Given the description of an element on the screen output the (x, y) to click on. 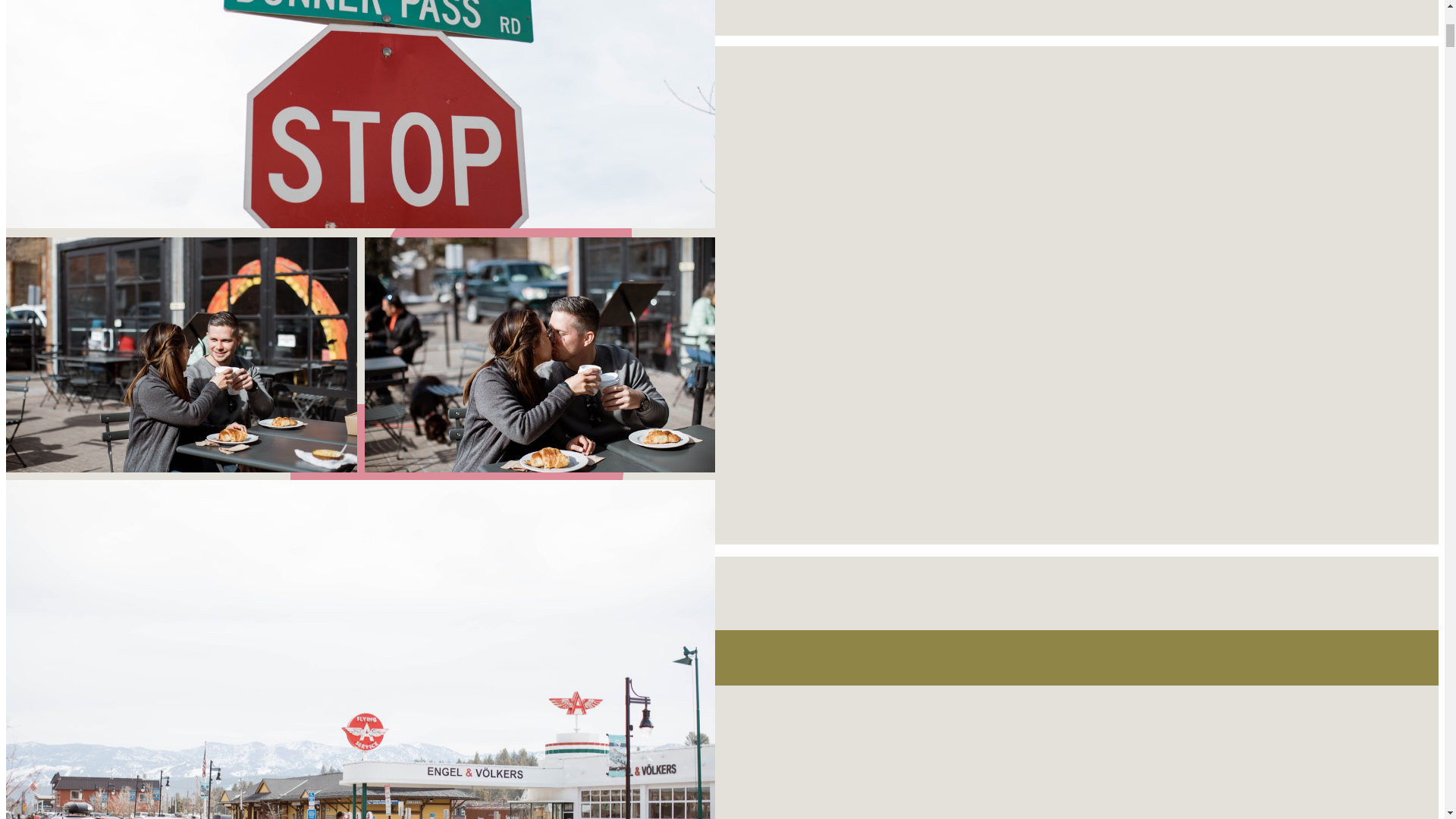
perfectly intimate brunch micro wedding in lake tahoe (245, 639)
LEAVE A COMMENT (70, 505)
sunny san diego elopement (80, 658)
yes (13, 816)
